Given the description of an element on the screen output the (x, y) to click on. 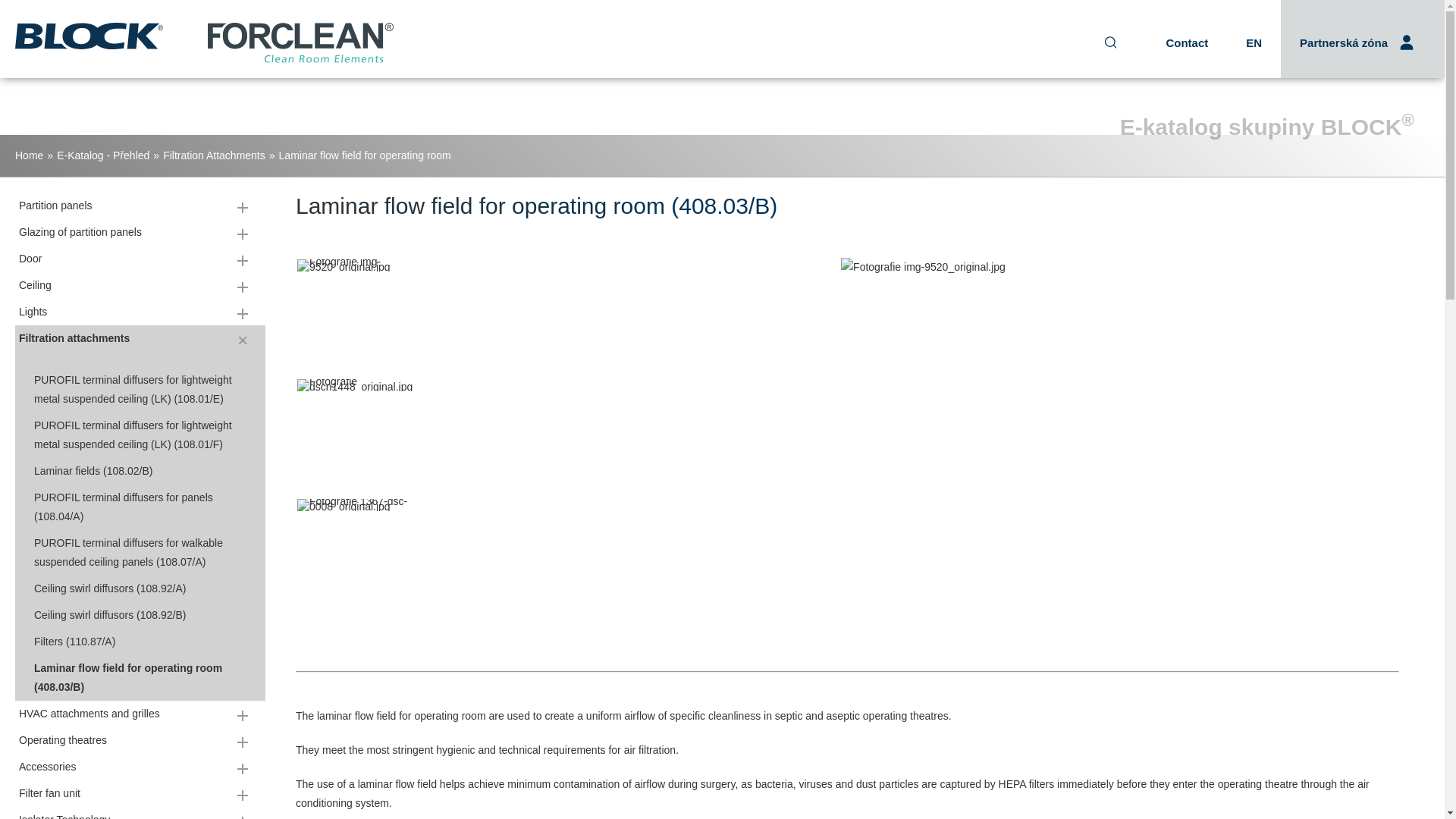
Filtration Attachments (213, 155)
Home (28, 155)
Partition panels (139, 205)
EN (1254, 42)
Contact (1187, 42)
Glazing of partition panels (139, 232)
